Given the description of an element on the screen output the (x, y) to click on. 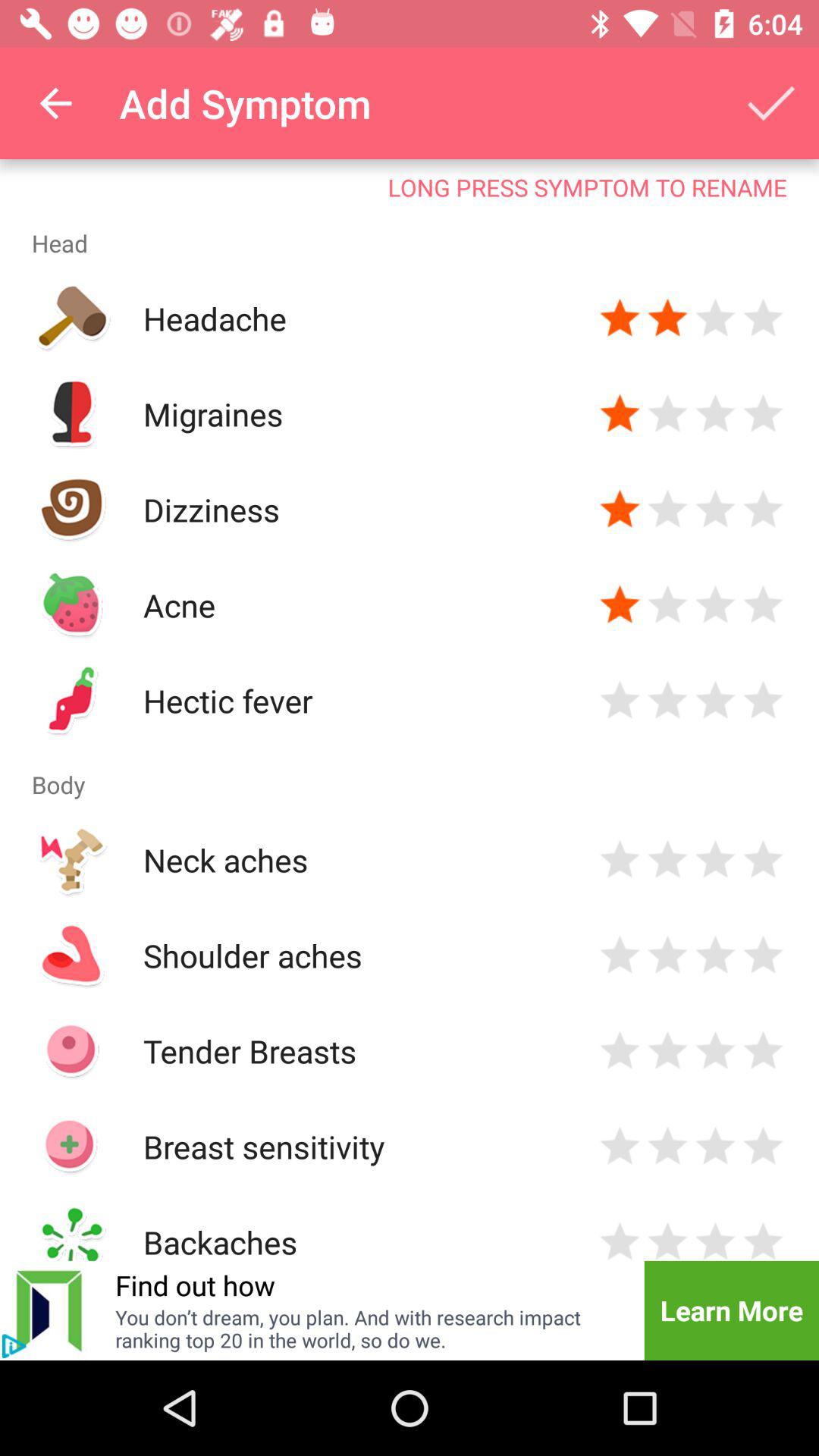
amount user suffers from symptom (619, 605)
